Given the description of an element on the screen output the (x, y) to click on. 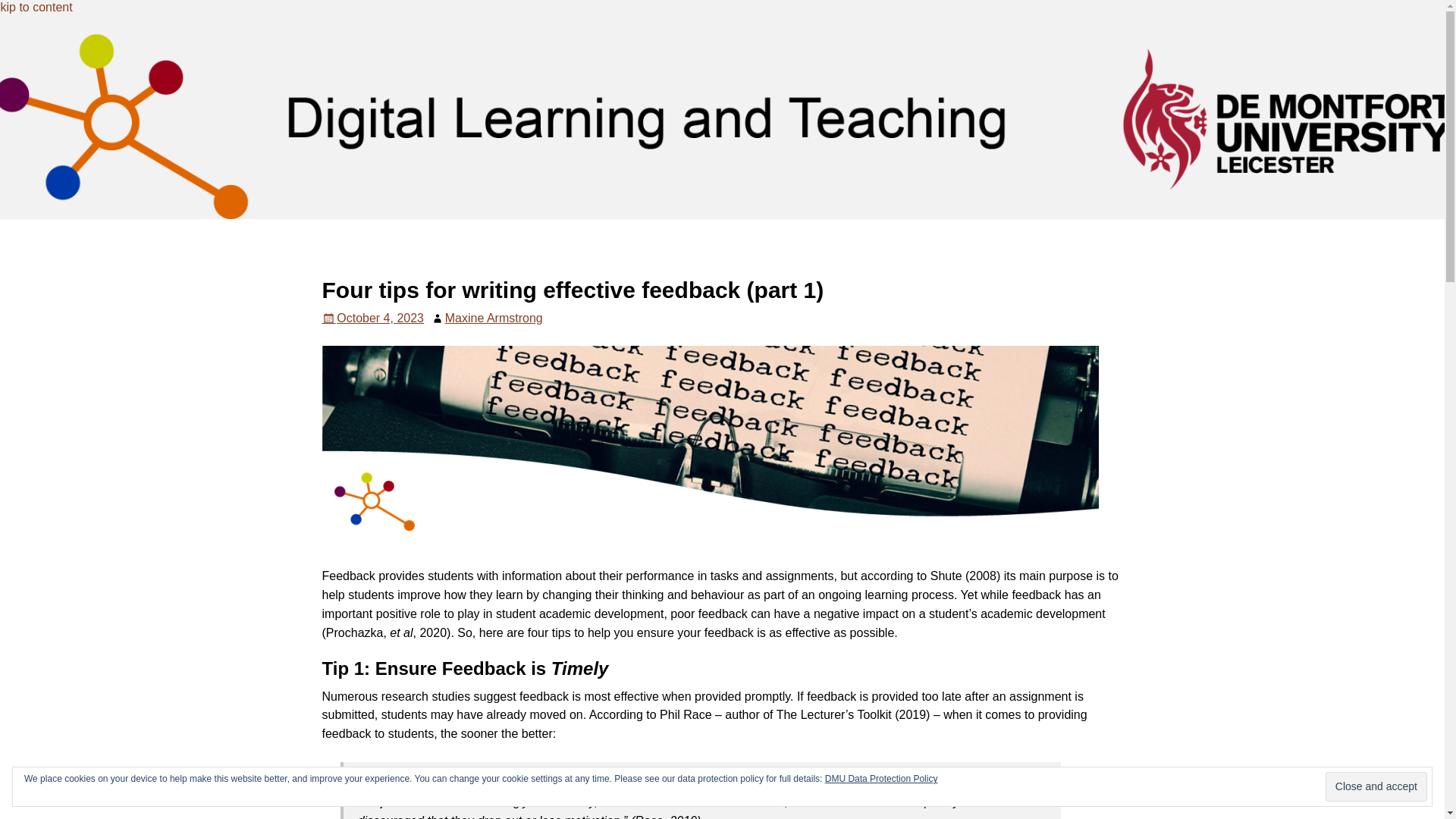
Close and accept (1375, 786)
10:07 am (372, 318)
View all posts by Maxine Armstrong (494, 318)
October 4, 2023 (372, 318)
Close and accept (1375, 786)
Maxine Armstrong (494, 318)
skip to content (35, 6)
DMU Data Protection Policy (881, 778)
